Given the description of an element on the screen output the (x, y) to click on. 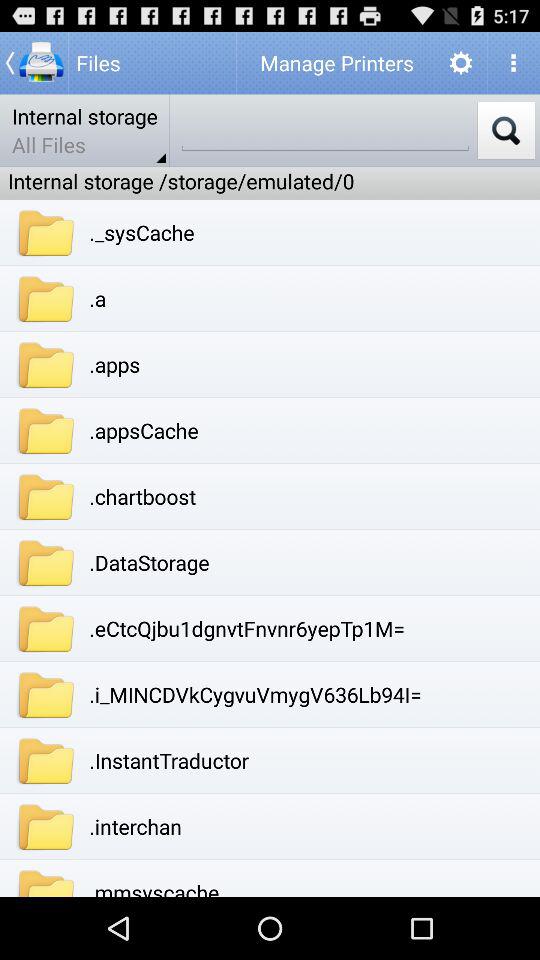
launch the .ectcqjbu1dgnvtfnvnr6yeptp1m= icon (247, 628)
